Given the description of an element on the screen output the (x, y) to click on. 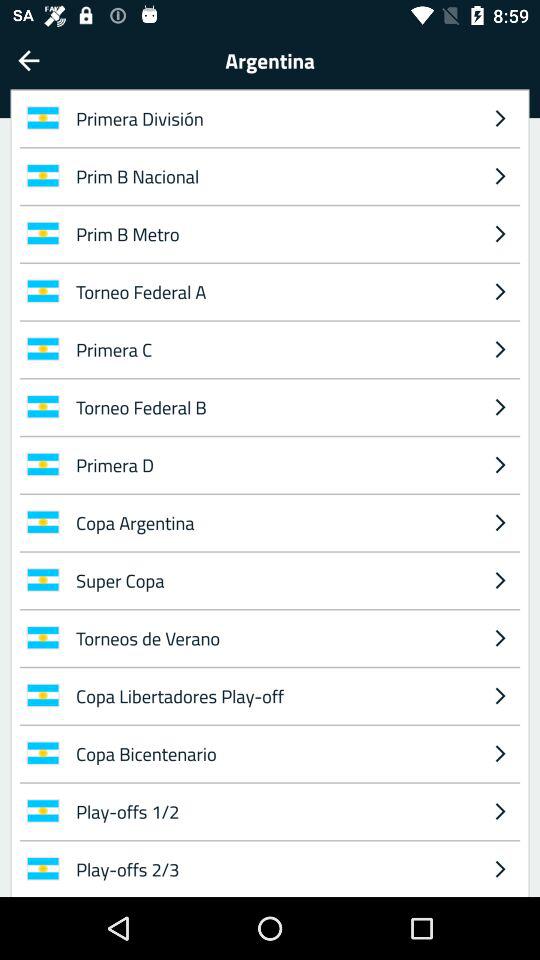
turn off item below the primera d (500, 522)
